Given the description of an element on the screen output the (x, y) to click on. 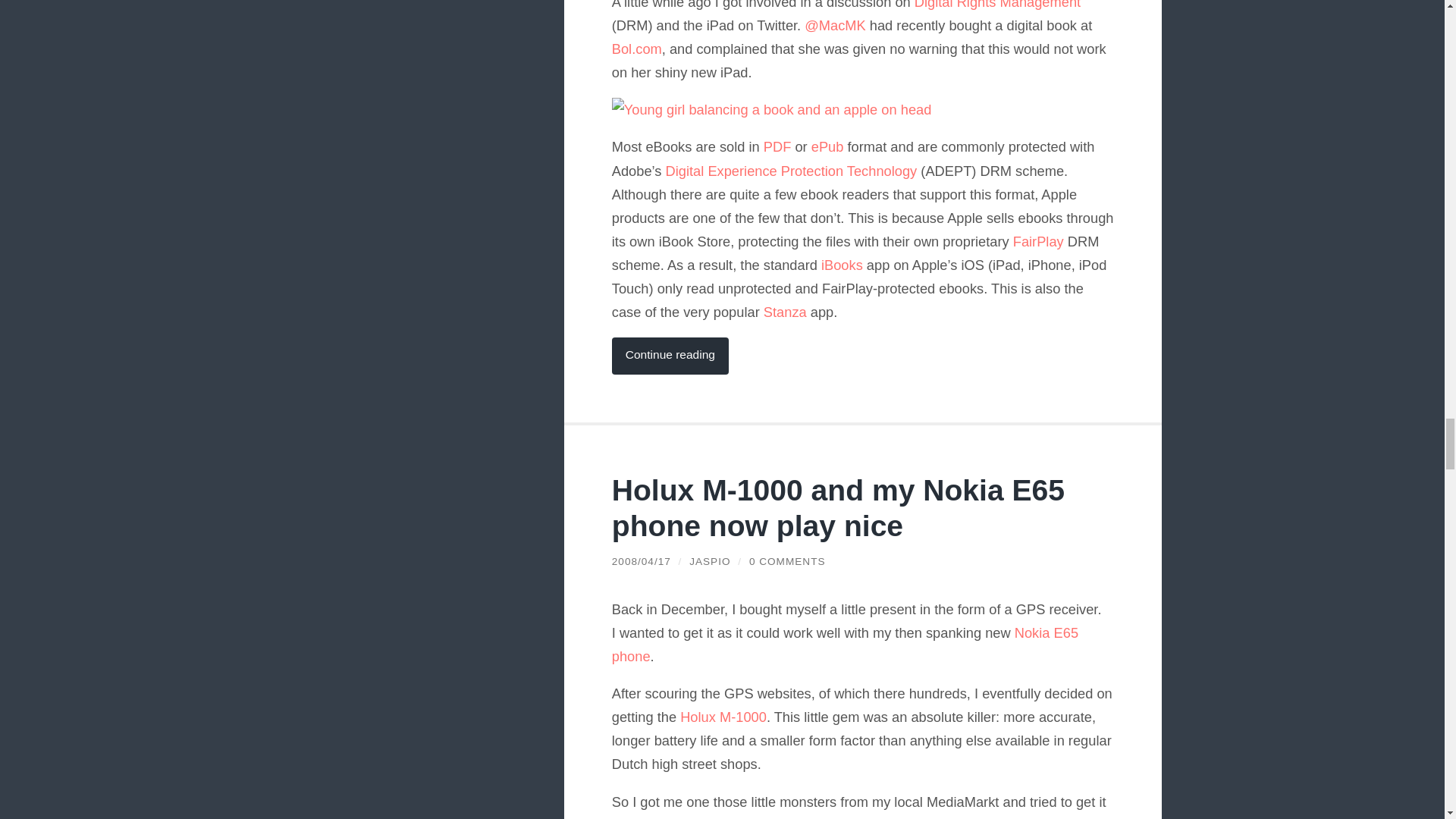
Nokia E65 page (844, 644)
M-1000 on Amazon (723, 716)
Posts by Jaspio (709, 561)
